Given the description of an element on the screen output the (x, y) to click on. 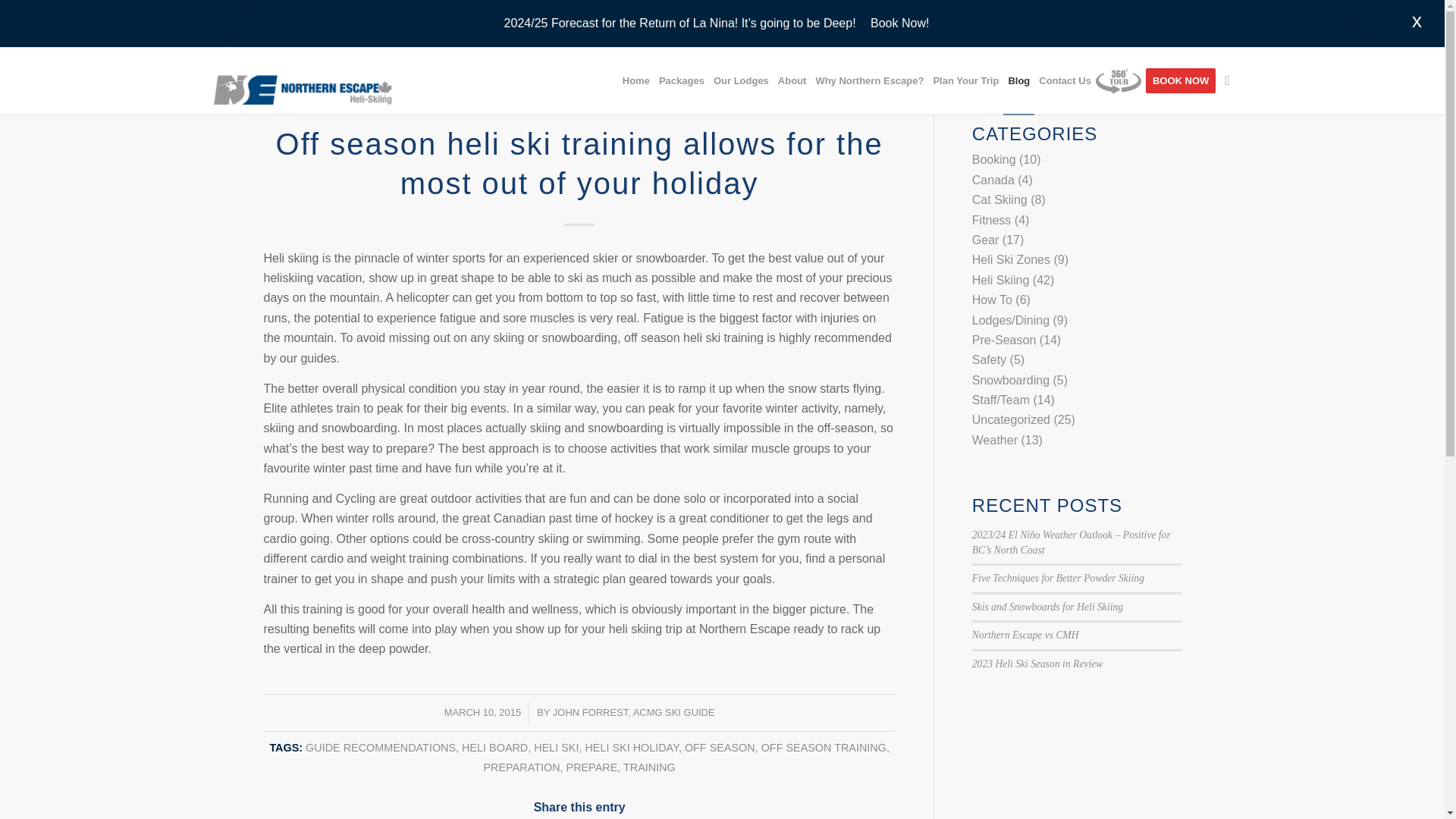
Why Northern Escape? (869, 80)
Posts by John Forrest, ACMG Ski Guide (633, 712)
Our Lodges (741, 80)
Book Now! (899, 22)
logo (302, 80)
Plan Your Trip (965, 80)
